Given the description of an element on the screen output the (x, y) to click on. 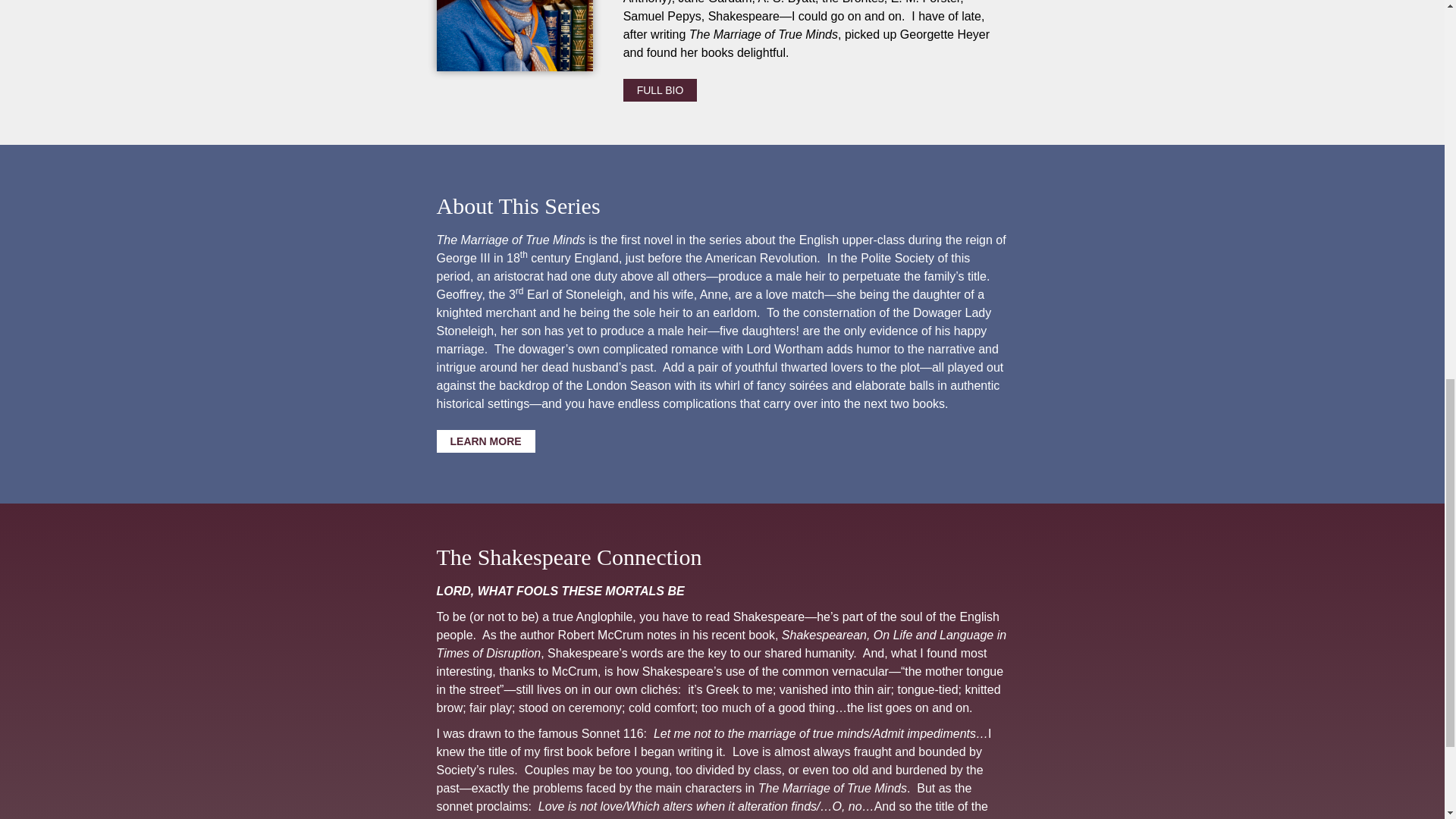
LL Field author photo (514, 35)
FULL BIO (660, 89)
LEARN MORE (485, 440)
